Given the description of an element on the screen output the (x, y) to click on. 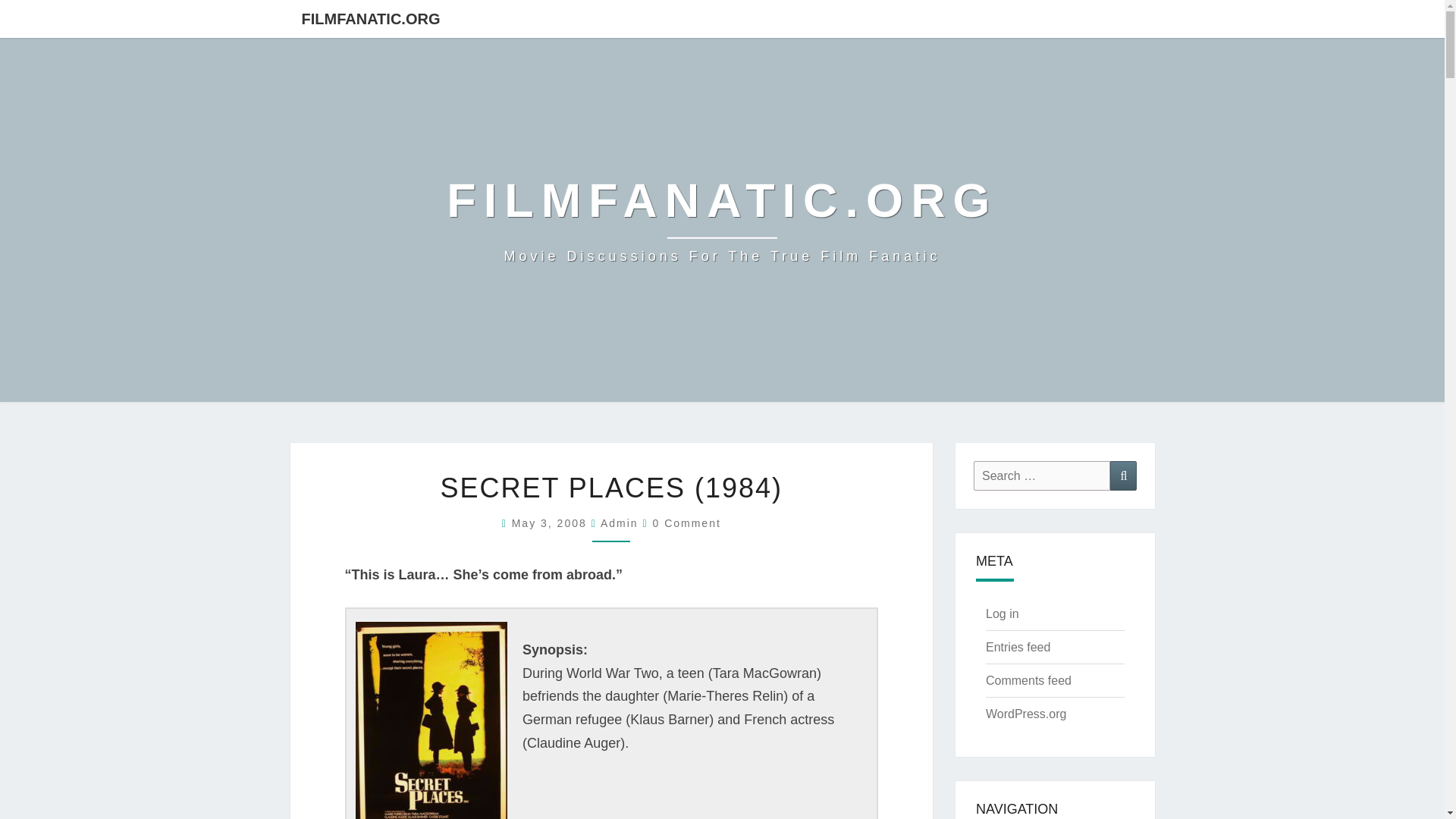
5:50 pm (551, 522)
View all posts by admin (619, 522)
FilmFanatic.org (721, 219)
Comments feed (1028, 680)
Search (1123, 475)
May 3, 2008 (721, 219)
Search for: (551, 522)
WordPress.org (1041, 475)
FILMFANATIC.ORG (1025, 713)
